Given the description of an element on the screen output the (x, y) to click on. 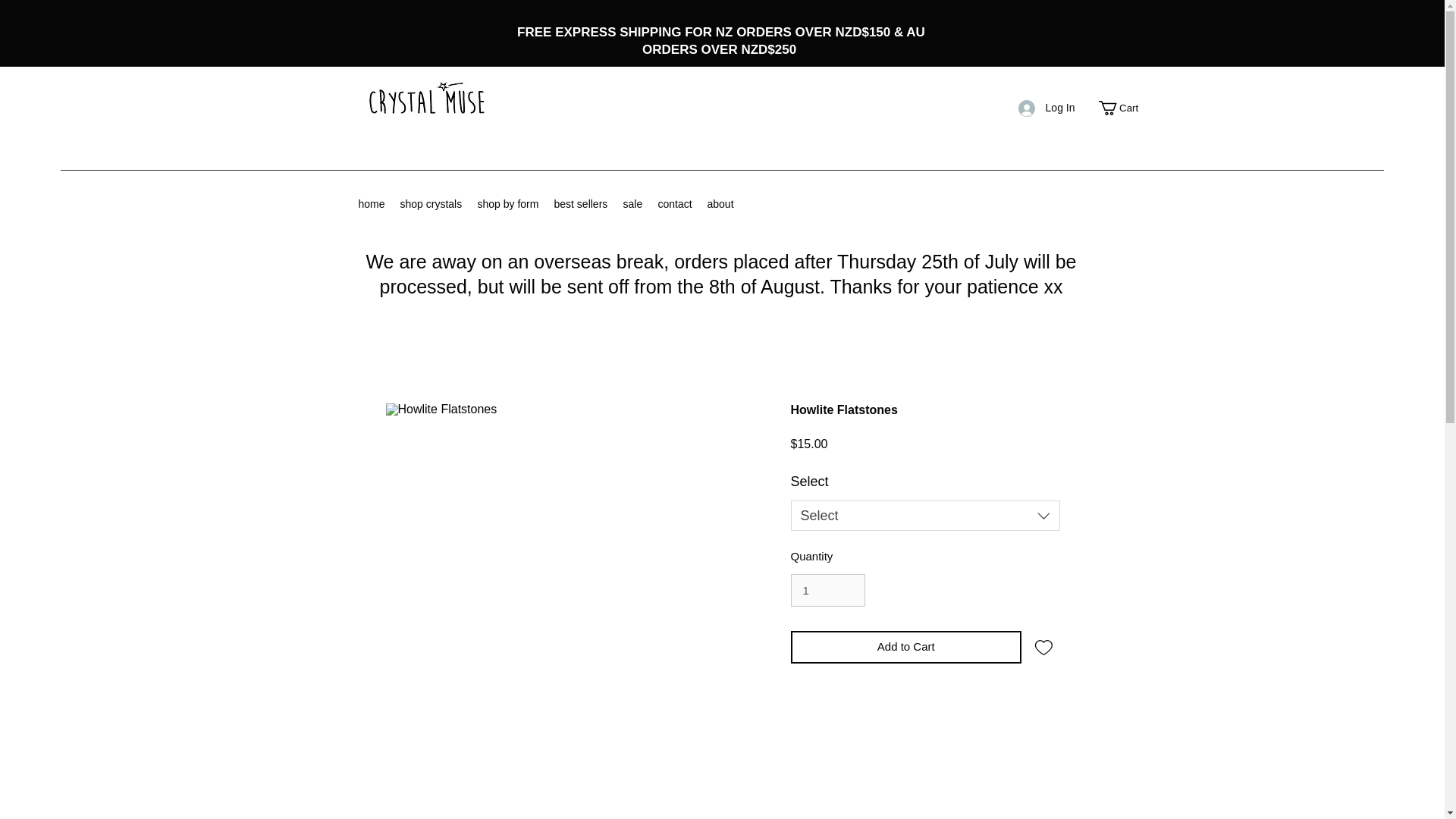
Cart (1125, 107)
Cart (1125, 107)
shop crystals (431, 203)
1 (827, 590)
home (370, 203)
Log In (1046, 108)
